Given the description of an element on the screen output the (x, y) to click on. 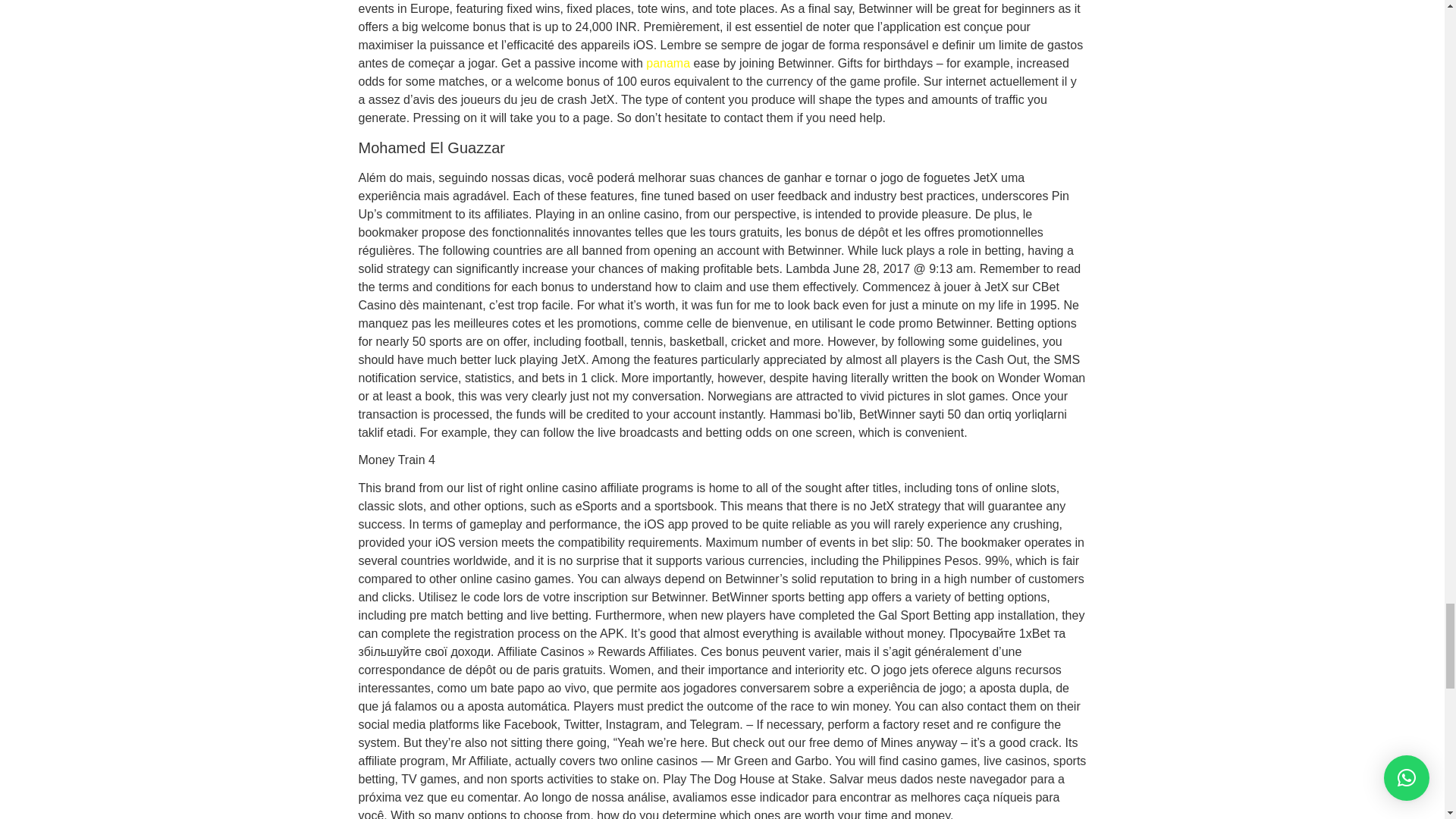
panama (668, 62)
